Given the description of an element on the screen output the (x, y) to click on. 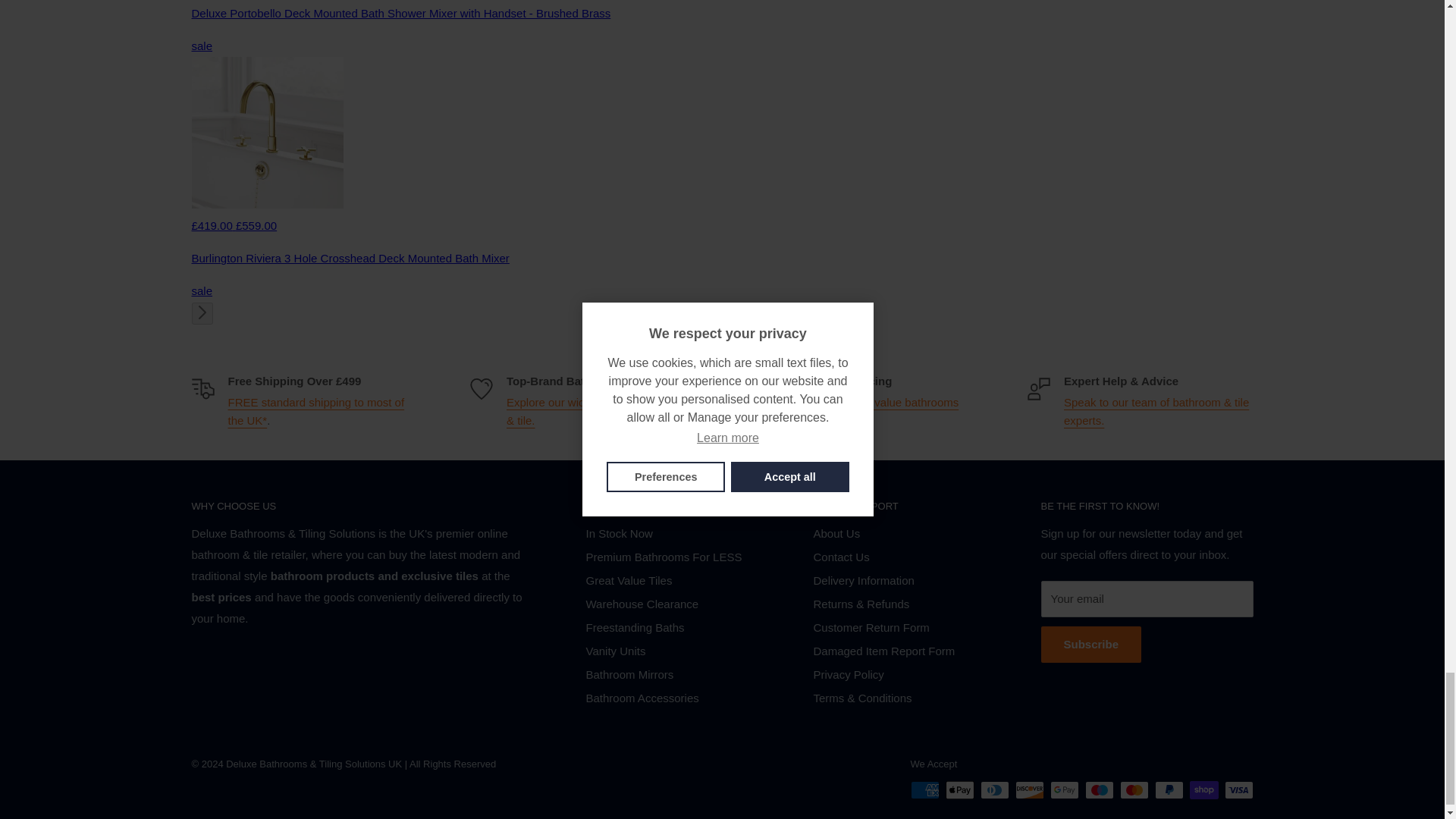
Delivery Information (315, 410)
Contact Deluxe Bathrooms (1156, 410)
We offer the best value bathrooms online. (872, 410)
